Given the description of an element on the screen output the (x, y) to click on. 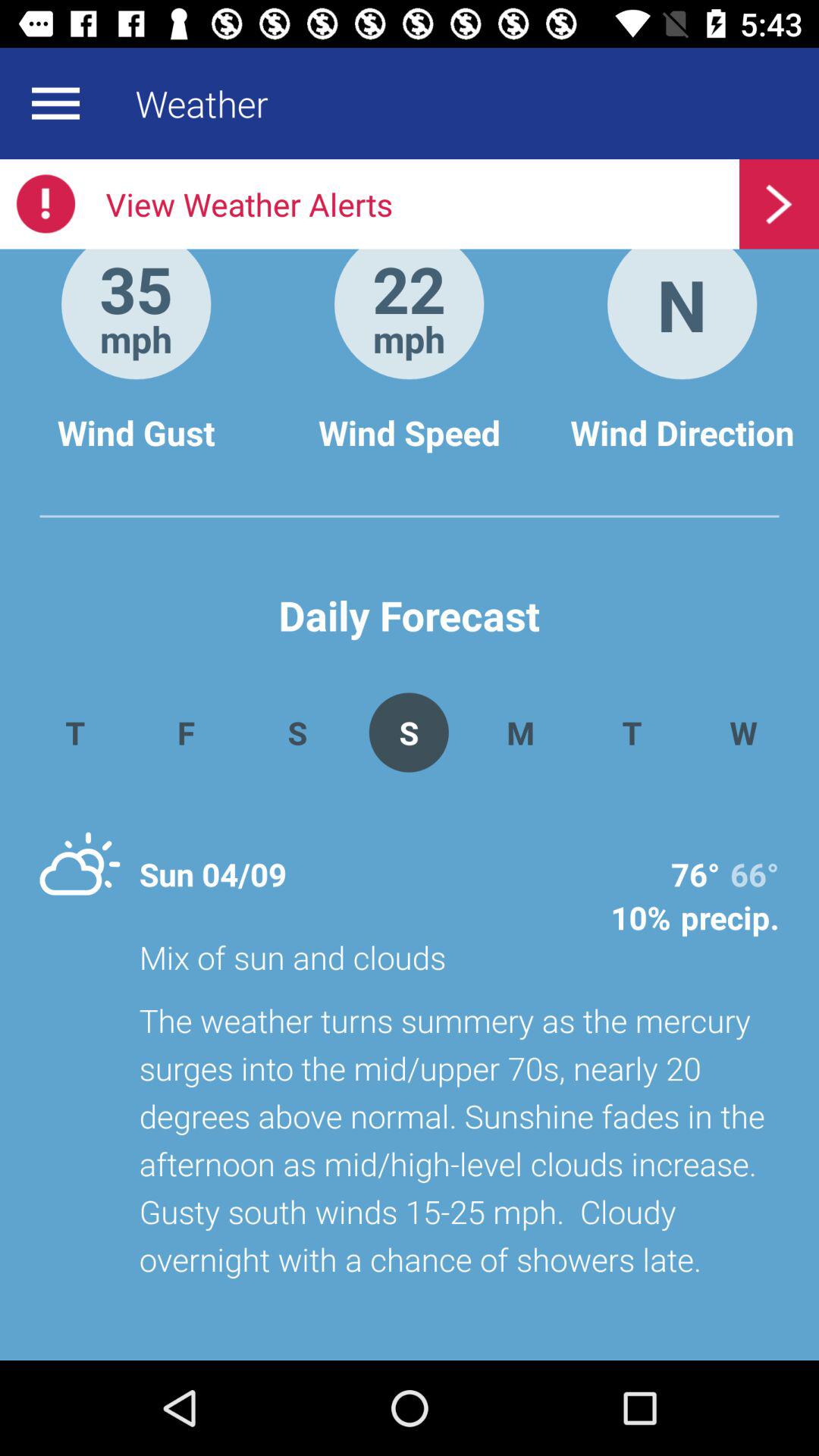
tap the app next to s app (185, 732)
